Given the description of an element on the screen output the (x, y) to click on. 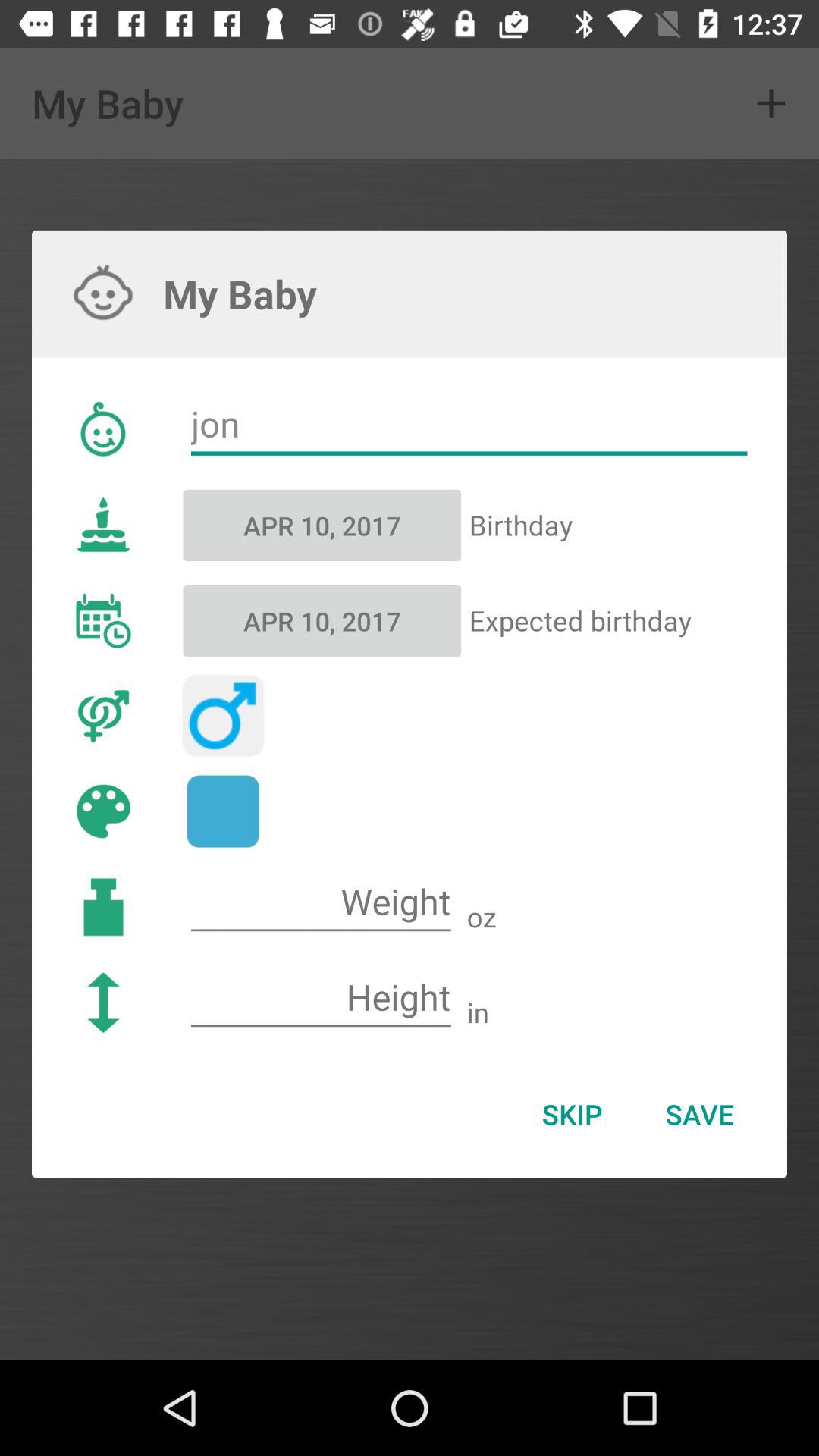
jump to the save icon (699, 1113)
